Given the description of an element on the screen output the (x, y) to click on. 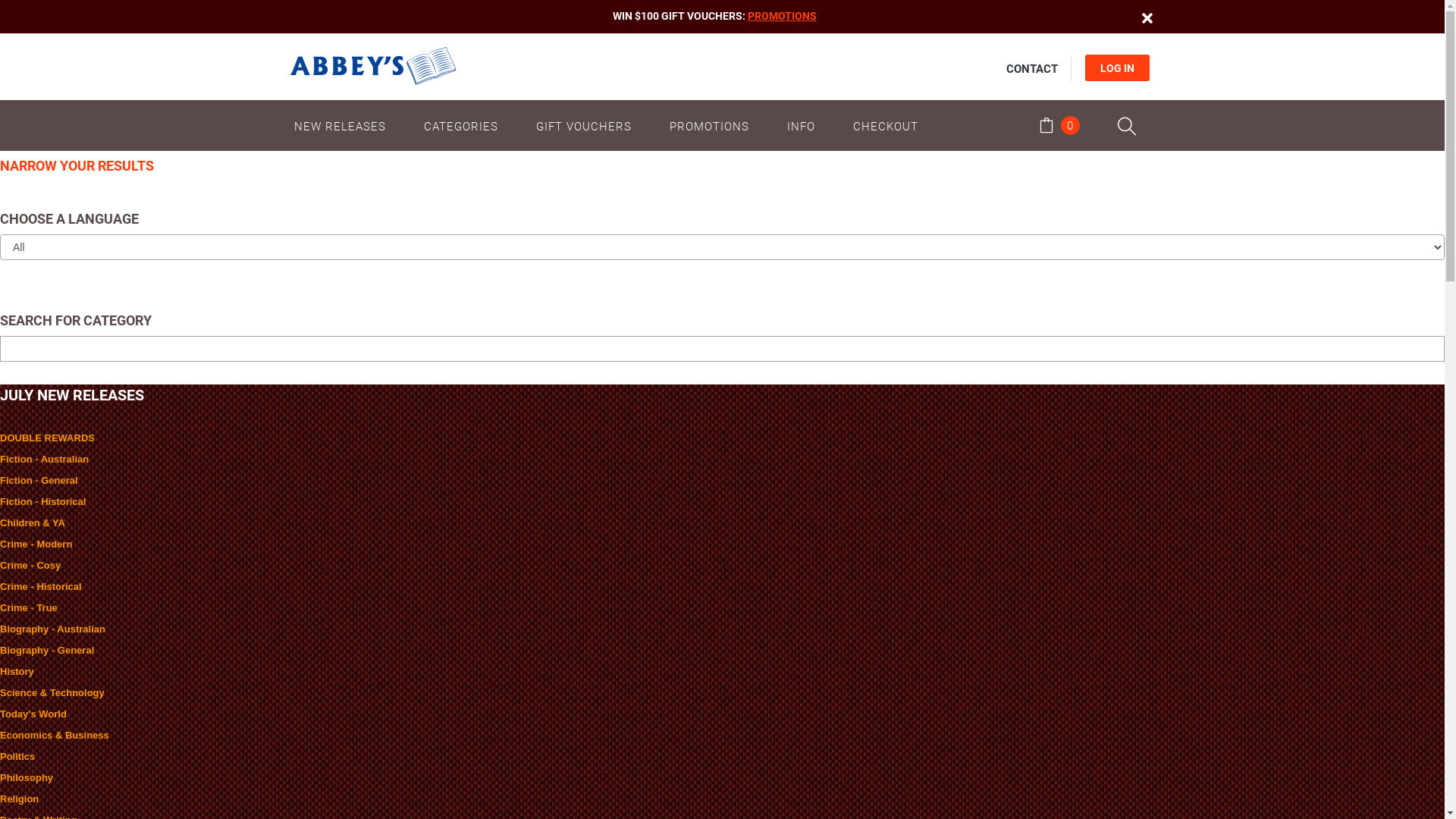
PROMOTIONS Element type: text (709, 125)
CONTACT Element type: text (1031, 68)
NEW RELEASES Element type: text (346, 125)
Fiction - Australian Element type: text (44, 458)
CHECKOUT Element type: text (885, 125)
INFO Element type: text (800, 125)
Fiction - Historical Element type: text (42, 501)
History Element type: text (17, 671)
Economics & Business Element type: text (54, 734)
Science & Technology Element type: text (52, 692)
Biography - Australian Element type: text (52, 628)
Fiction - General Element type: text (39, 480)
Biography - General Element type: text (47, 649)
DOUBLE REWARDS Element type: text (47, 437)
CATEGORIES Element type: text (460, 125)
Crime - Modern Element type: text (36, 543)
Children & YA Element type: text (32, 522)
Religion Element type: text (19, 798)
Crime - Historical Element type: text (40, 586)
Politics Element type: text (17, 756)
JULY NEW RELEASES Element type: text (72, 394)
PROMOTIONS Element type: text (781, 15)
GIFT VOUCHERS Element type: text (583, 125)
Crime - True Element type: text (28, 607)
Crime - Cosy Element type: text (30, 565)
0 Element type: text (1058, 127)
Today's World Element type: text (33, 713)
Philosophy Element type: text (26, 777)
